Given the description of an element on the screen output the (x, y) to click on. 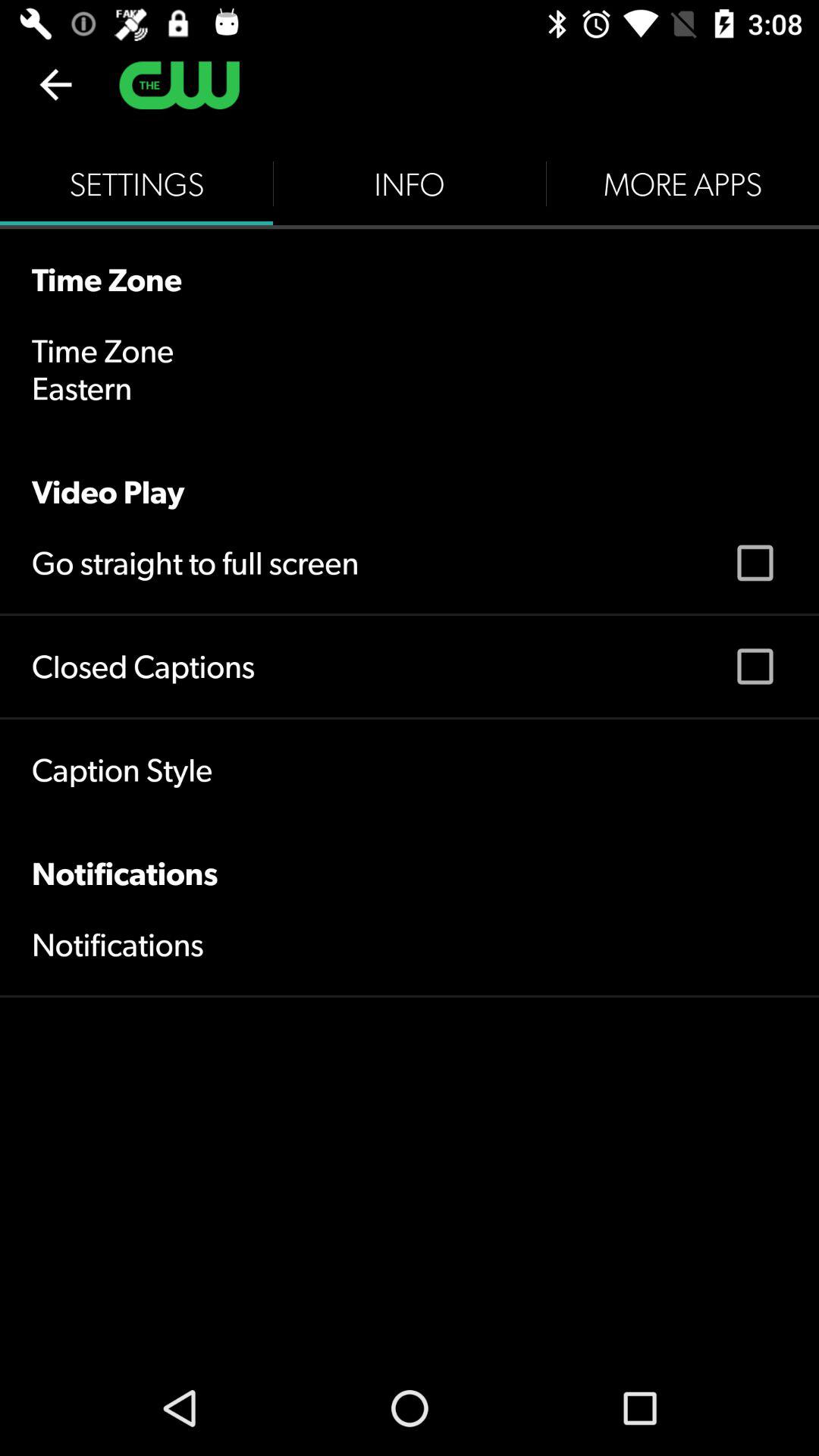
flip until eastern item (81, 388)
